Given the description of an element on the screen output the (x, y) to click on. 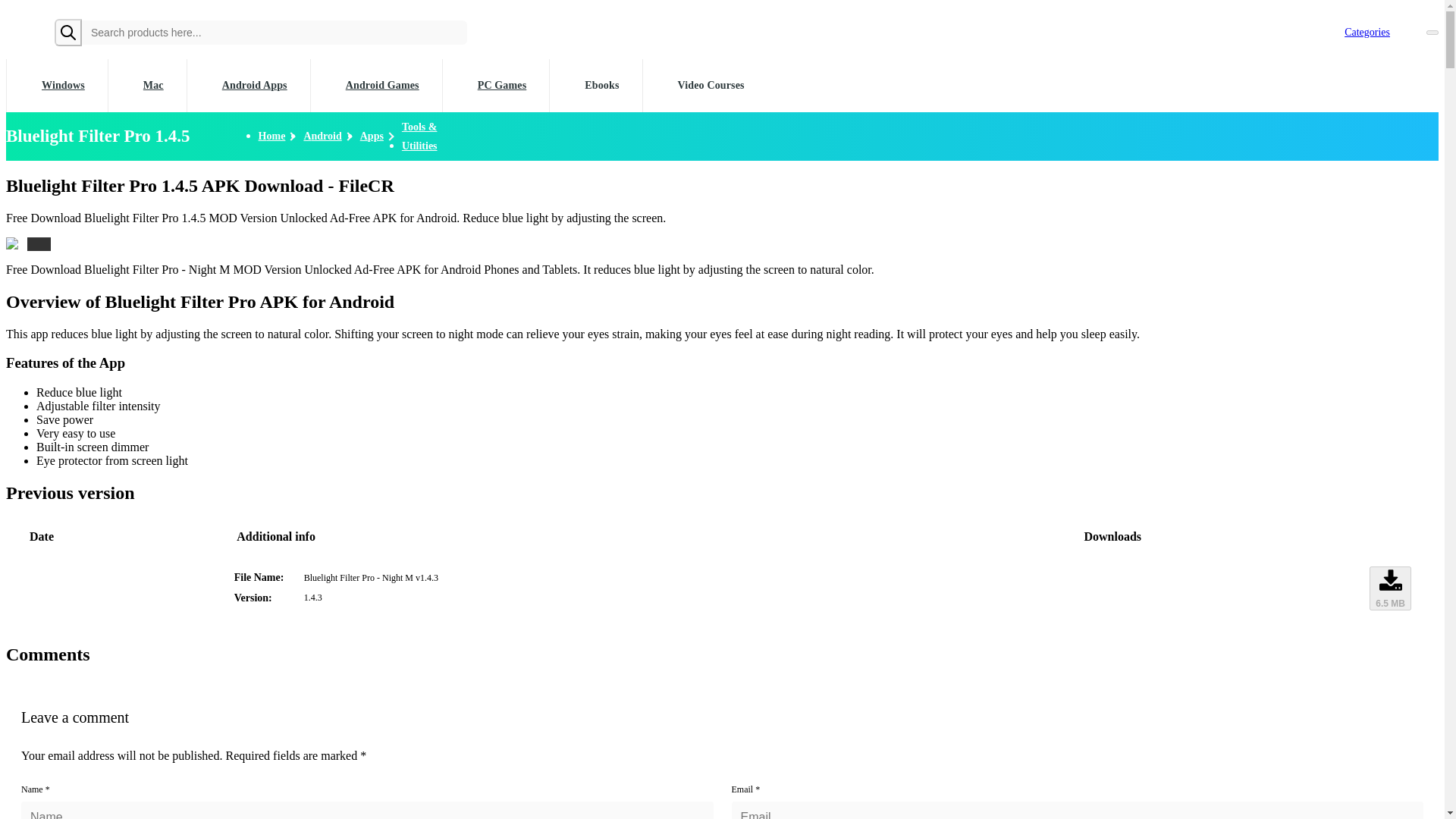
PC Games (496, 85)
Mac (146, 85)
Android (321, 135)
Windows (56, 85)
Android Games (376, 85)
Apps (371, 135)
6.5 MB (1390, 588)
Categories (1363, 32)
Android Apps (248, 85)
Home (272, 135)
